Given the description of an element on the screen output the (x, y) to click on. 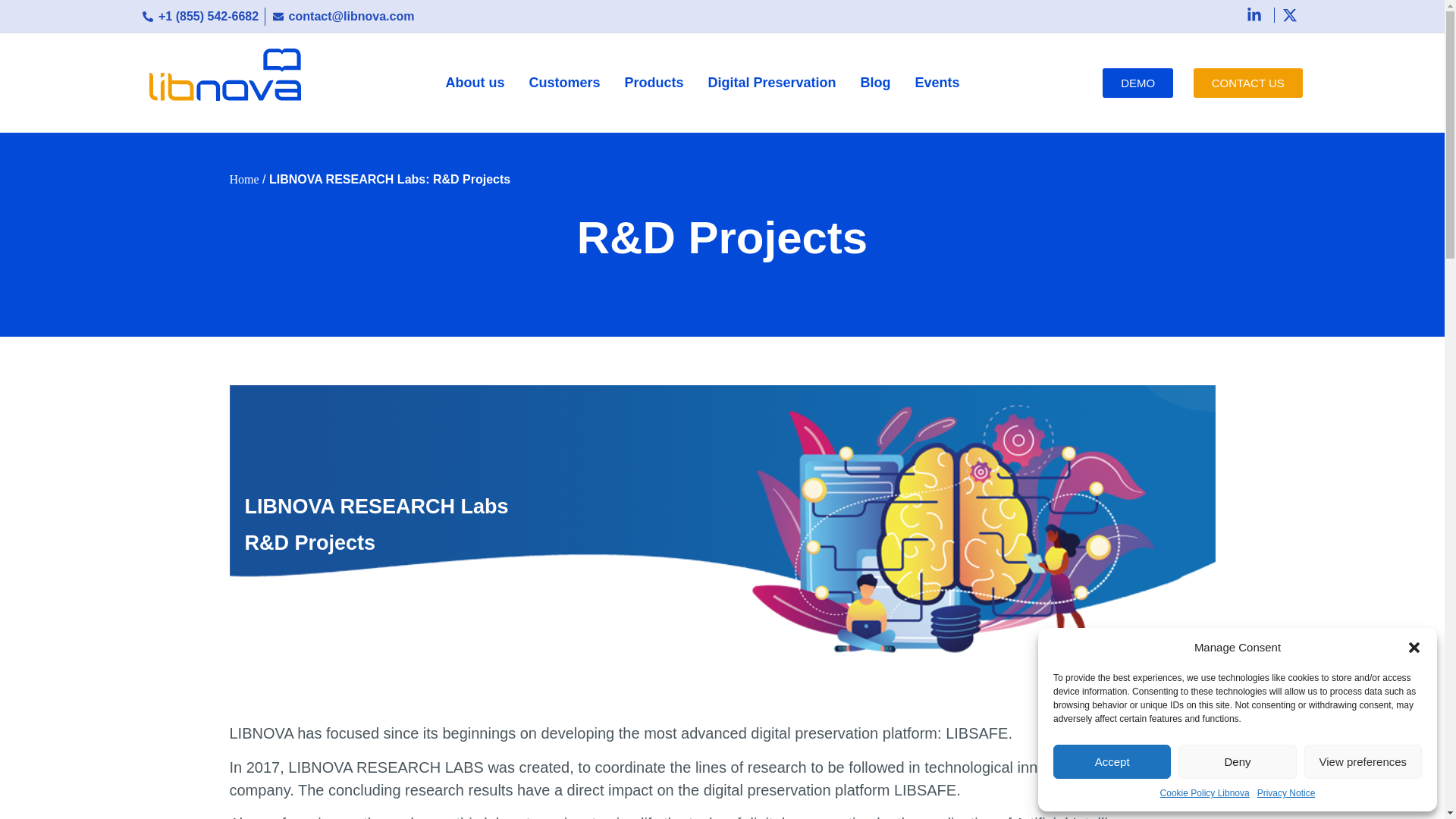
DEMO (1137, 82)
Privacy Notice (1286, 793)
Digital Preservation (771, 82)
Customers (563, 82)
CONTACT US (1248, 82)
Blog (875, 82)
Events (937, 82)
Cookie Policy Libnova (1204, 793)
Products (653, 82)
Home (243, 178)
